Given the description of an element on the screen output the (x, y) to click on. 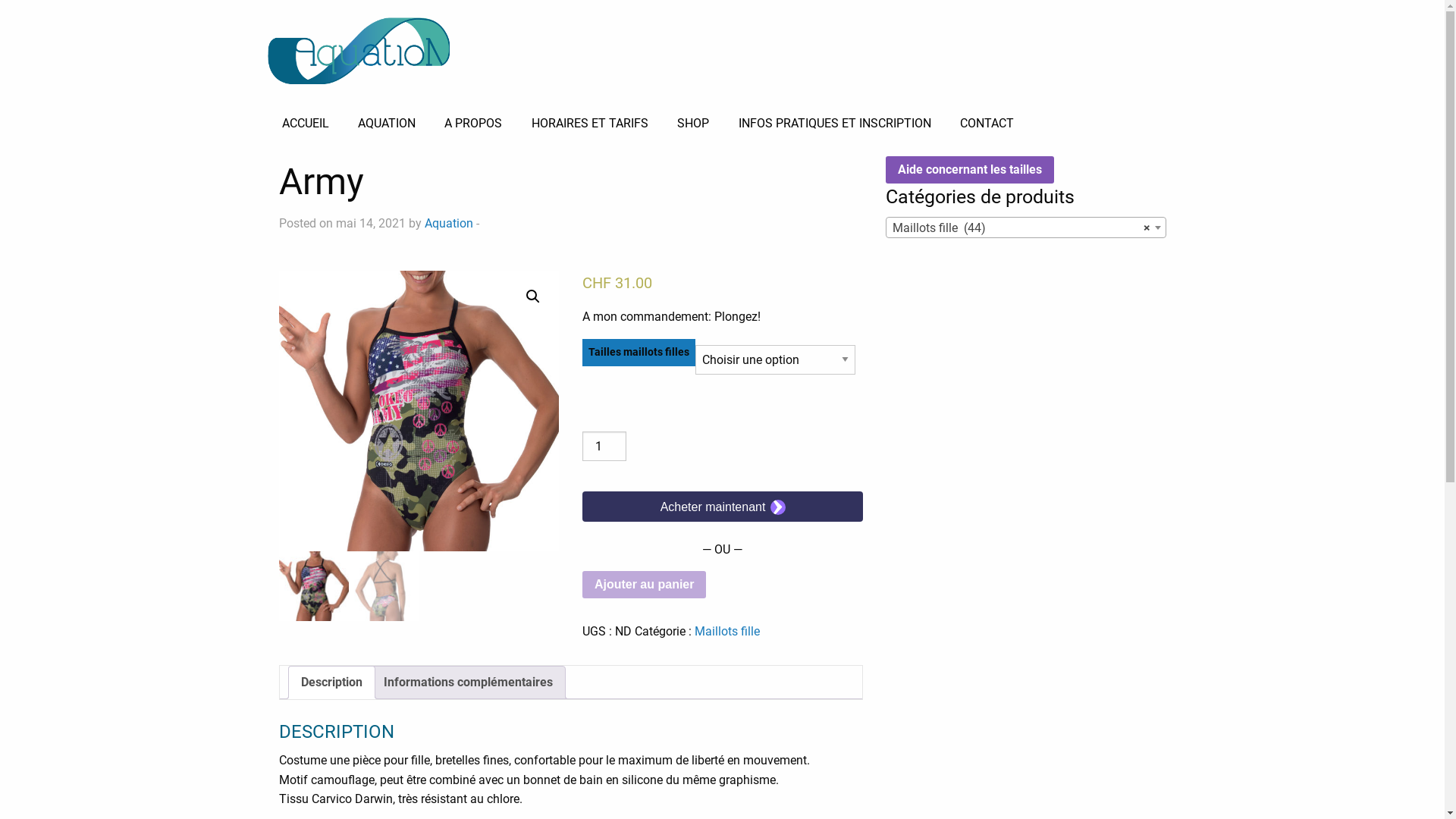
CONTACT Element type: text (986, 123)
ACCUEIL Element type: text (304, 123)
Maillots fille Element type: text (726, 631)
SHOP Element type: text (692, 123)
Aquation Element type: text (448, 223)
AQUATION Element type: text (386, 123)
INFOS PRATIQUES ET INSCRIPTION Element type: text (833, 123)
Description Element type: text (330, 682)
Aide concernant les tailles Element type: text (969, 169)
A PROPOS Element type: text (472, 123)
Ajouter au panier Element type: text (644, 584)
HORAIRES ET TARIFS Element type: text (589, 123)
